Given the description of an element on the screen output the (x, y) to click on. 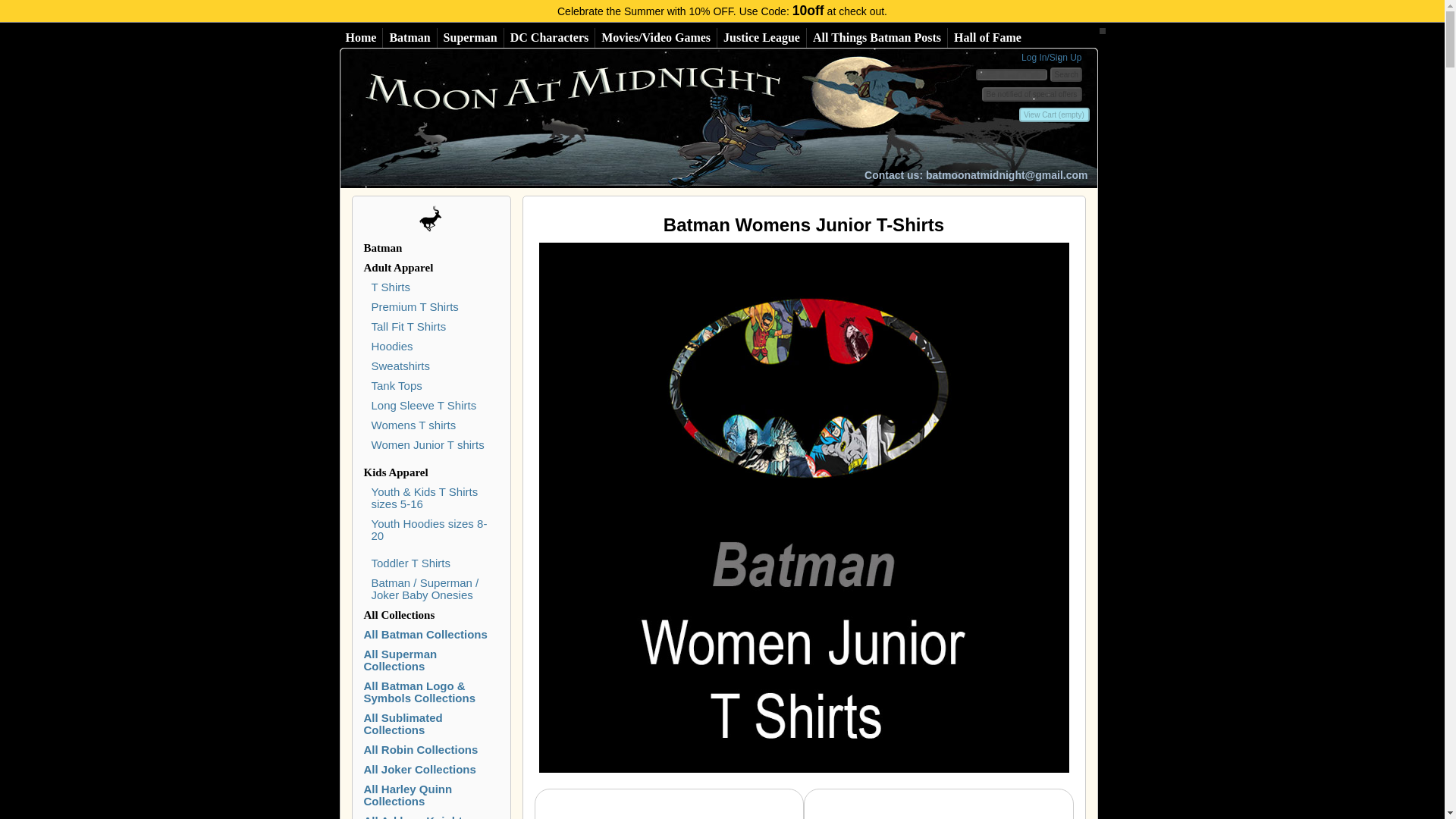
Premium T Shirts (414, 306)
Search (1065, 74)
T Shirts (390, 286)
Be notified of special offers (1031, 93)
Home (361, 37)
DC Characters (549, 37)
All Batman Collections (409, 37)
T Shirts (390, 286)
Search (1065, 74)
Premium T Shirts (414, 306)
Be notified of special offers (1031, 93)
Superman (470, 37)
Justice League (761, 37)
HOME (604, 118)
All Things Batman Posts (876, 37)
